Given the description of an element on the screen output the (x, y) to click on. 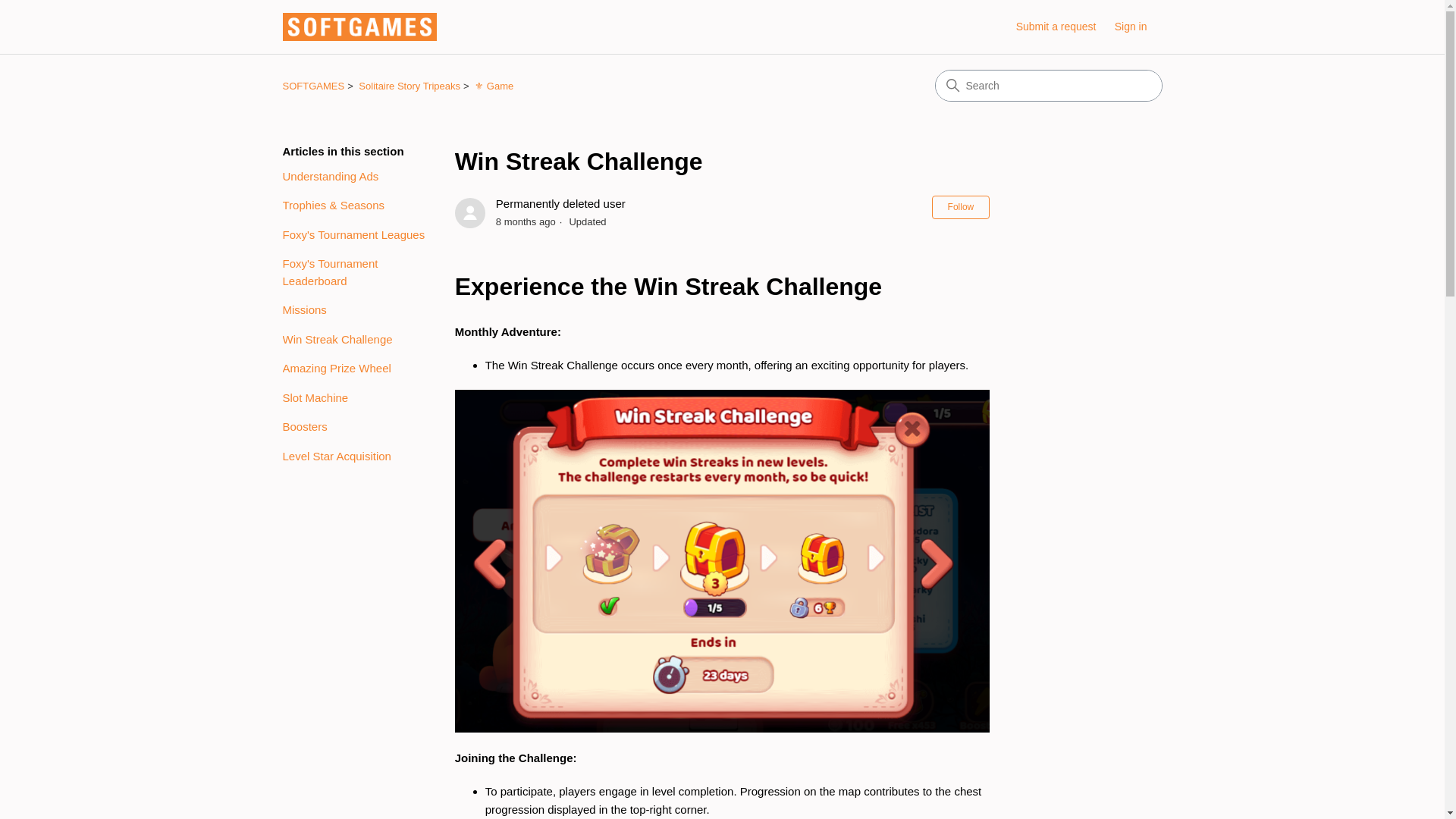
Opens a dialog (1138, 26)
Foxy's Tournament Leagues (356, 234)
Slot Machine (356, 398)
Sign in (1138, 26)
Win Streak Challenge (722, 161)
Home (359, 26)
Opens a widget where you can find more information (1380, 792)
Amazing Prize Wheel (356, 368)
SOFTGAMES (312, 85)
Level Star Acquisition (356, 456)
